Given the description of an element on the screen output the (x, y) to click on. 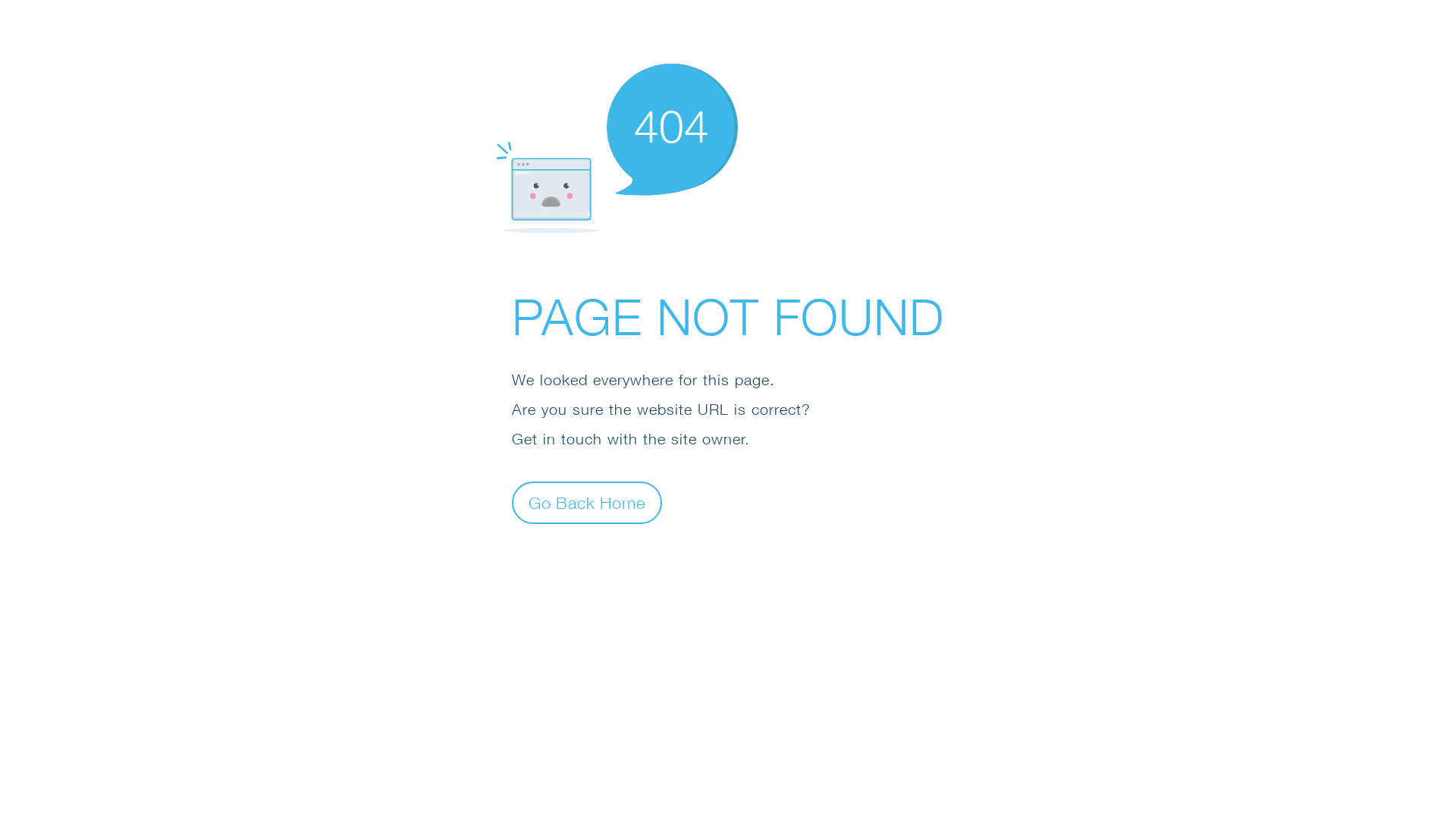
Go Back Home Element type: text (586, 502)
